Given the description of an element on the screen output the (x, y) to click on. 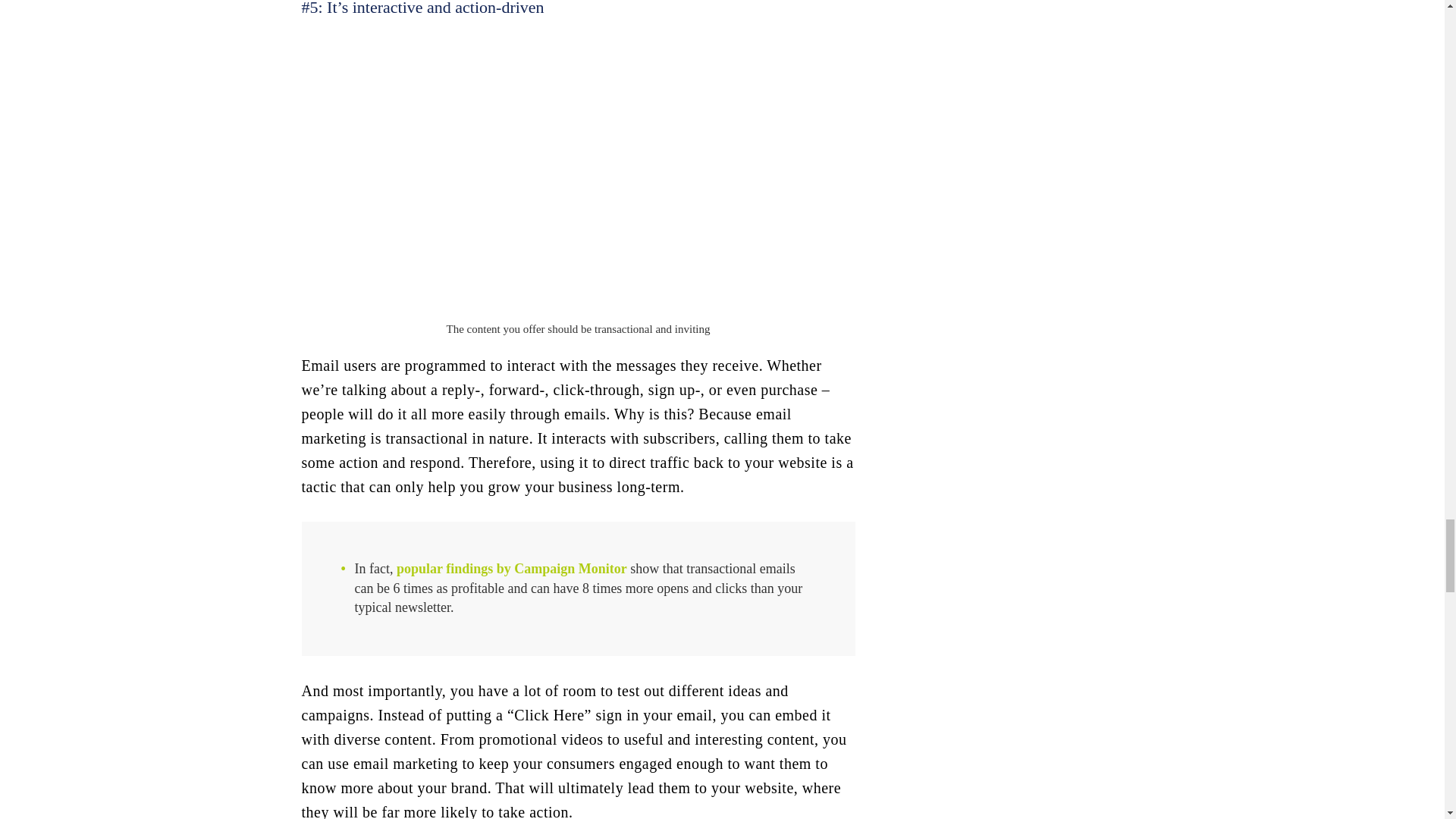
popular findings by Campaign Monitor (511, 568)
